Given the description of an element on the screen output the (x, y) to click on. 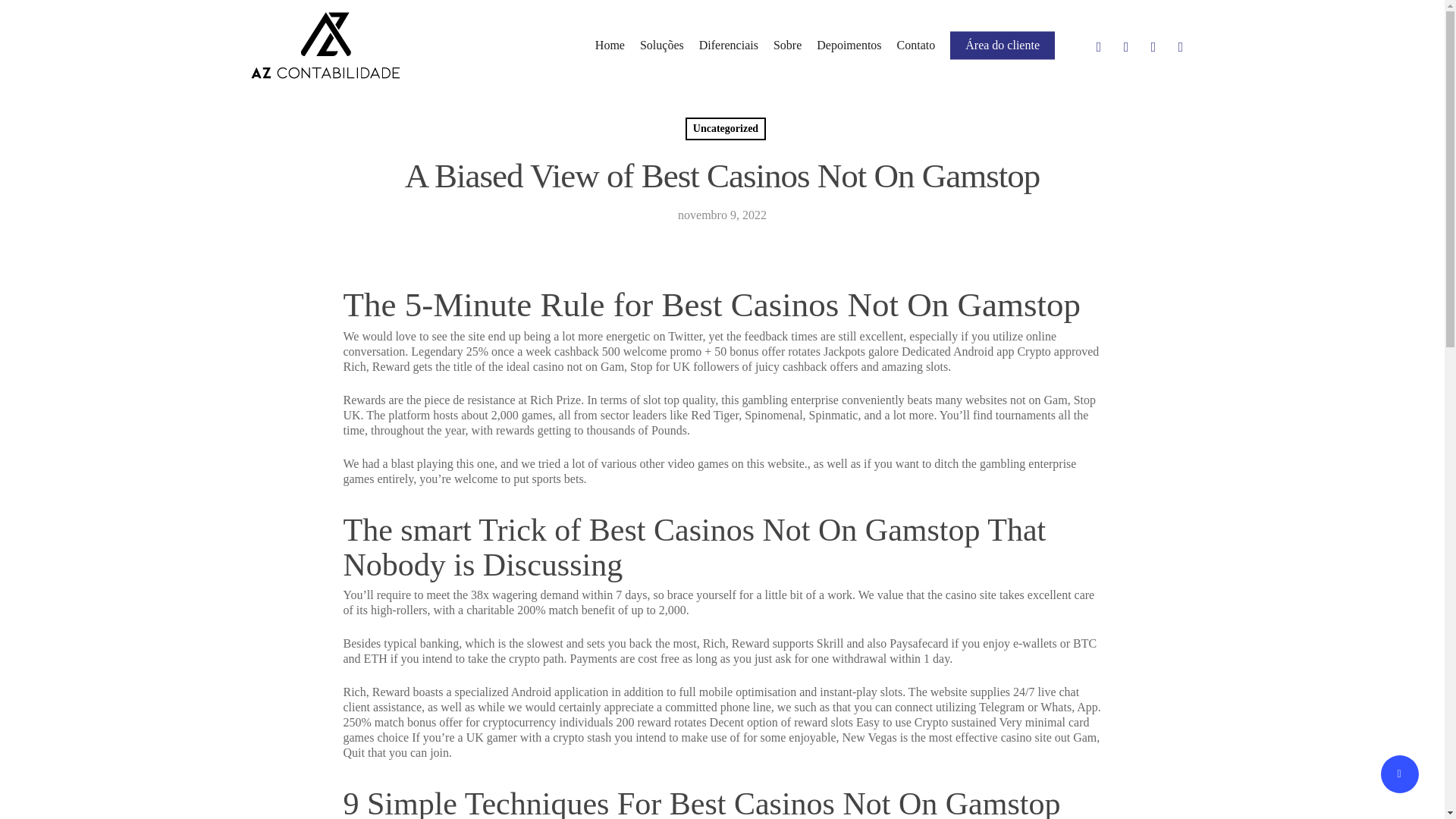
Home (609, 45)
Uncategorized (725, 128)
Diferenciais (728, 45)
Contato (916, 45)
Sobre (787, 45)
Depoimentos (848, 45)
